Given the description of an element on the screen output the (x, y) to click on. 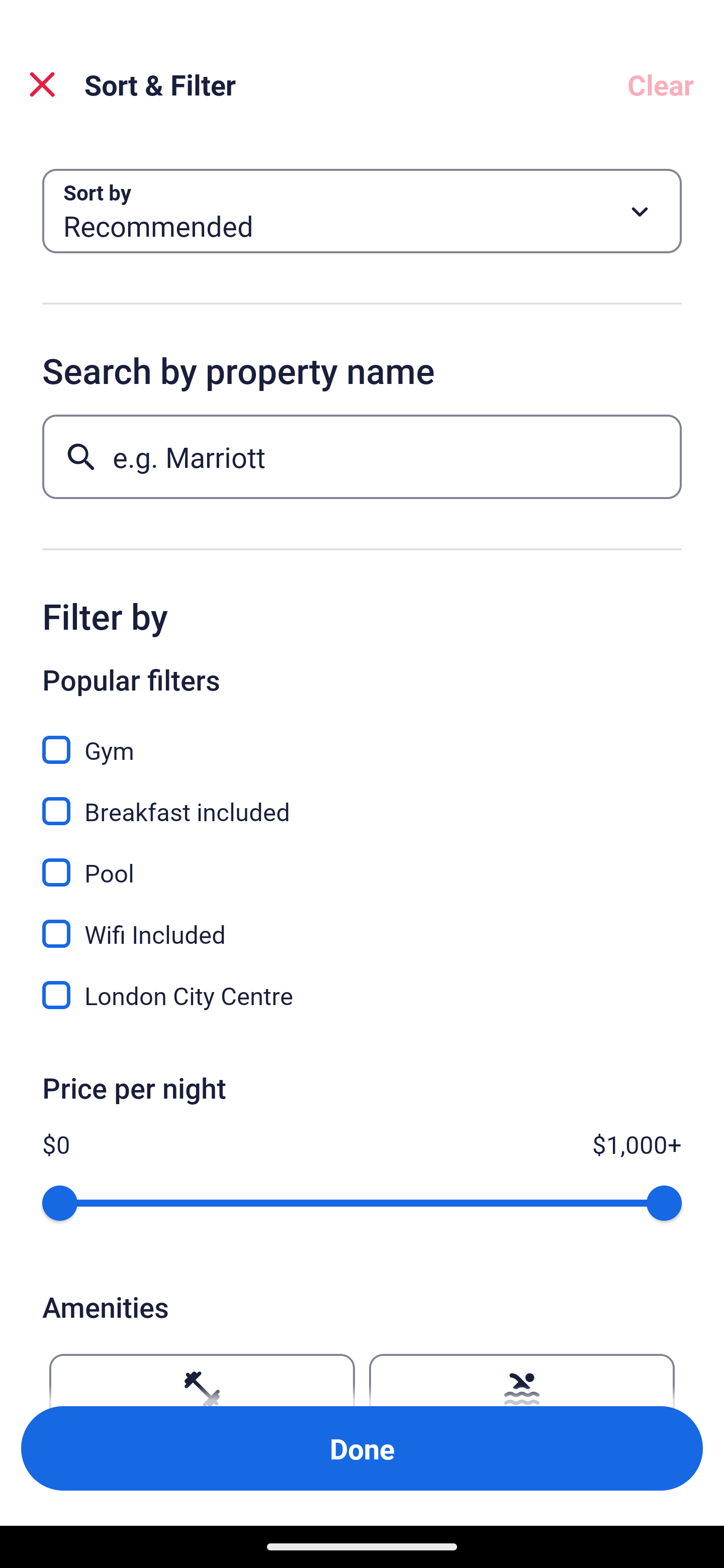
Close Sort and Filter (42, 84)
Clear (660, 84)
Sort by Button Recommended (361, 211)
e.g. Marriott Button (361, 455)
Gym, Gym (361, 738)
Breakfast included, Breakfast included (361, 800)
Pool, Pool (361, 861)
Wifi Included, Wifi Included (361, 922)
London City Centre, London City Centre (361, 995)
Apply and close Sort and Filter Done (361, 1448)
